Given the description of an element on the screen output the (x, y) to click on. 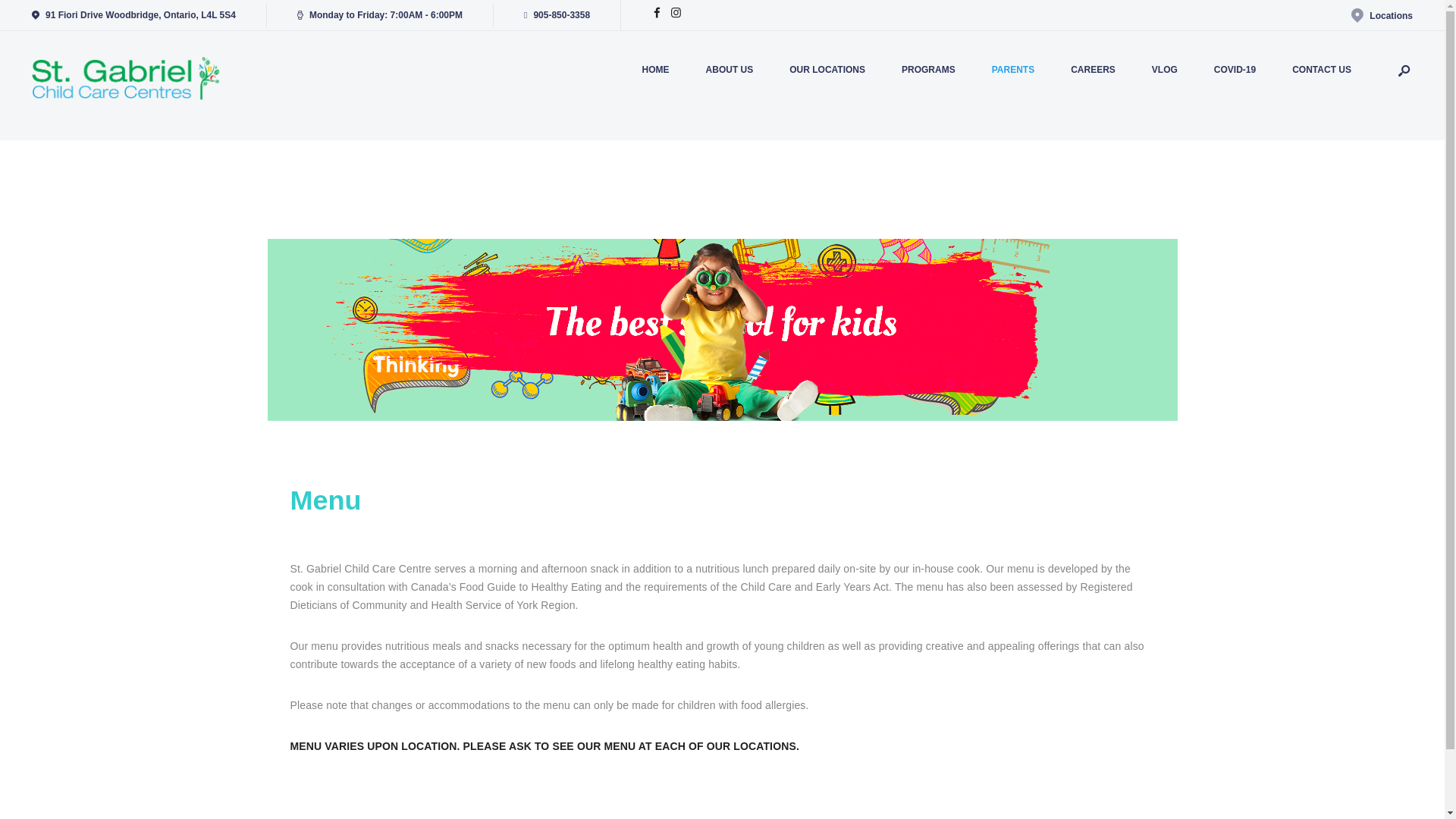
OUR LOCATIONS (827, 69)
VLOG (1164, 69)
CAREERS (1092, 69)
CONTACT US (1320, 69)
ABOUT US (729, 69)
COVID-19 (1235, 69)
PROGRAMS (927, 69)
PARENTS (1012, 69)
HOME (655, 69)
